Given the description of an element on the screen output the (x, y) to click on. 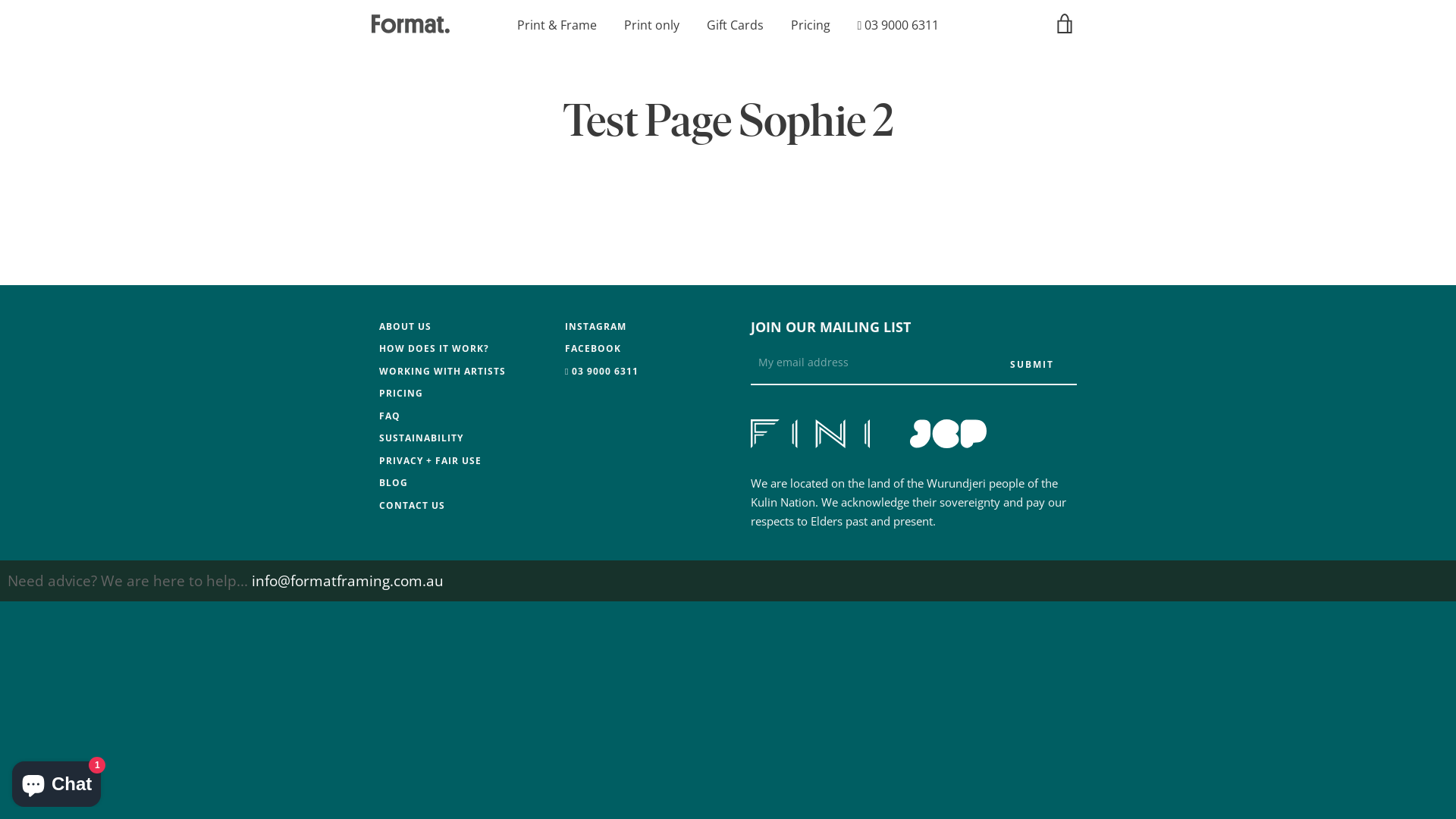
Shopify online store chat Element type: hover (56, 780)
BLOG Element type: text (393, 482)
Pricing Element type: text (810, 24)
FAQ Element type: text (389, 415)
Print & Frame Element type: text (556, 24)
WORKING WITH ARTISTS Element type: text (442, 370)
Submit Element type: text (1031, 364)
CONTACT US Element type: text (412, 504)
INSTAGRAM Element type: text (595, 326)
info@formatframing.com.au Element type: text (347, 580)
Gift Cards Element type: text (734, 24)
Print only Element type: text (651, 24)
ABOUT US Element type: text (405, 326)
VIEW CART Element type: text (1065, 23)
SUSTAINABILITY Element type: text (421, 437)
PRIVACY + FAIR USE Element type: text (430, 459)
FACEBOOK Element type: text (592, 348)
Skip to content Element type: text (0, 0)
PRICING Element type: text (401, 392)
HOW DOES IT WORK? Element type: text (434, 348)
